Given the description of an element on the screen output the (x, y) to click on. 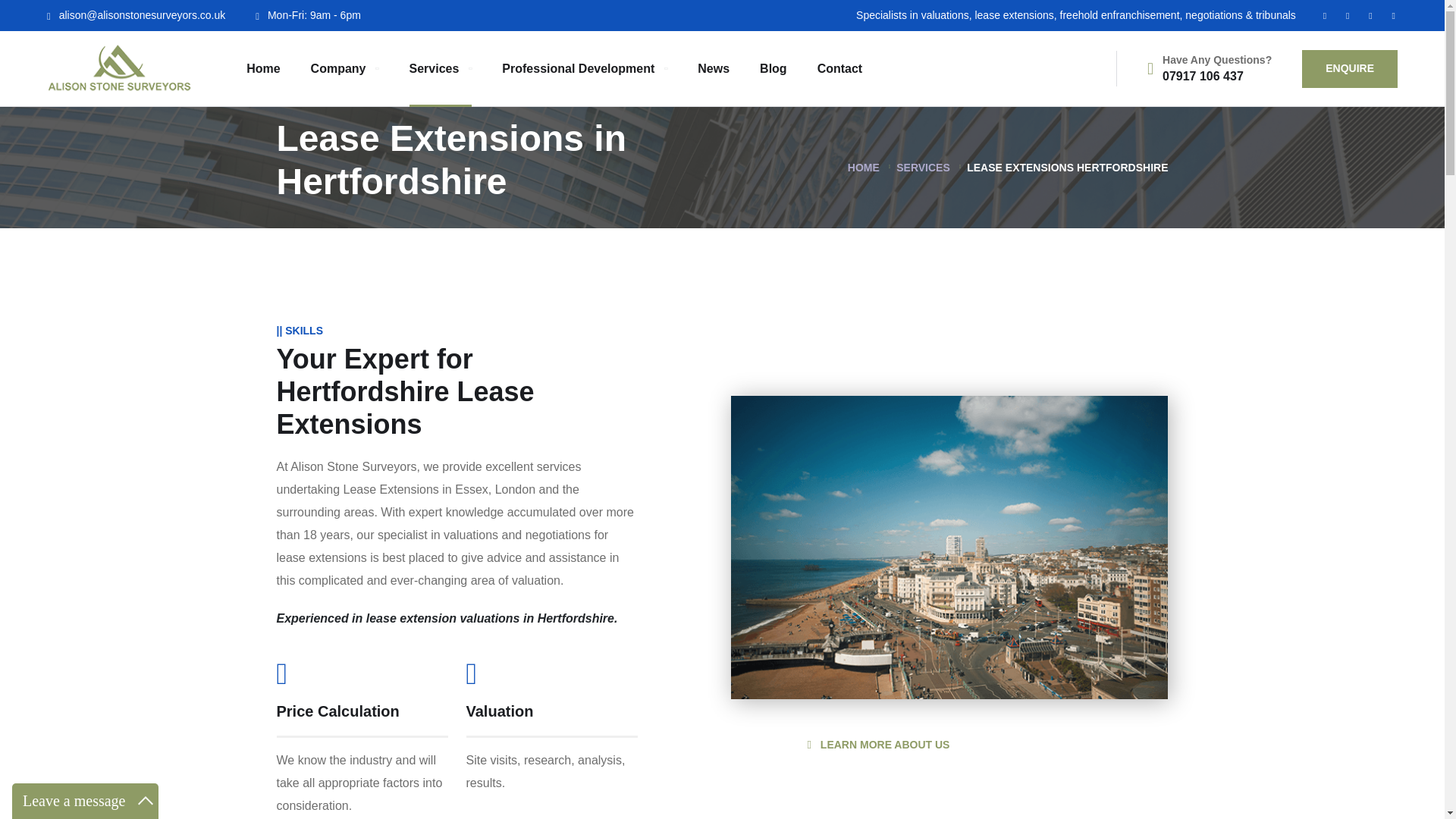
Professional Development (584, 68)
07917 106 437 (1202, 75)
Maximize (145, 800)
ENQUIRE (1349, 68)
Company (344, 68)
